Given the description of an element on the screen output the (x, y) to click on. 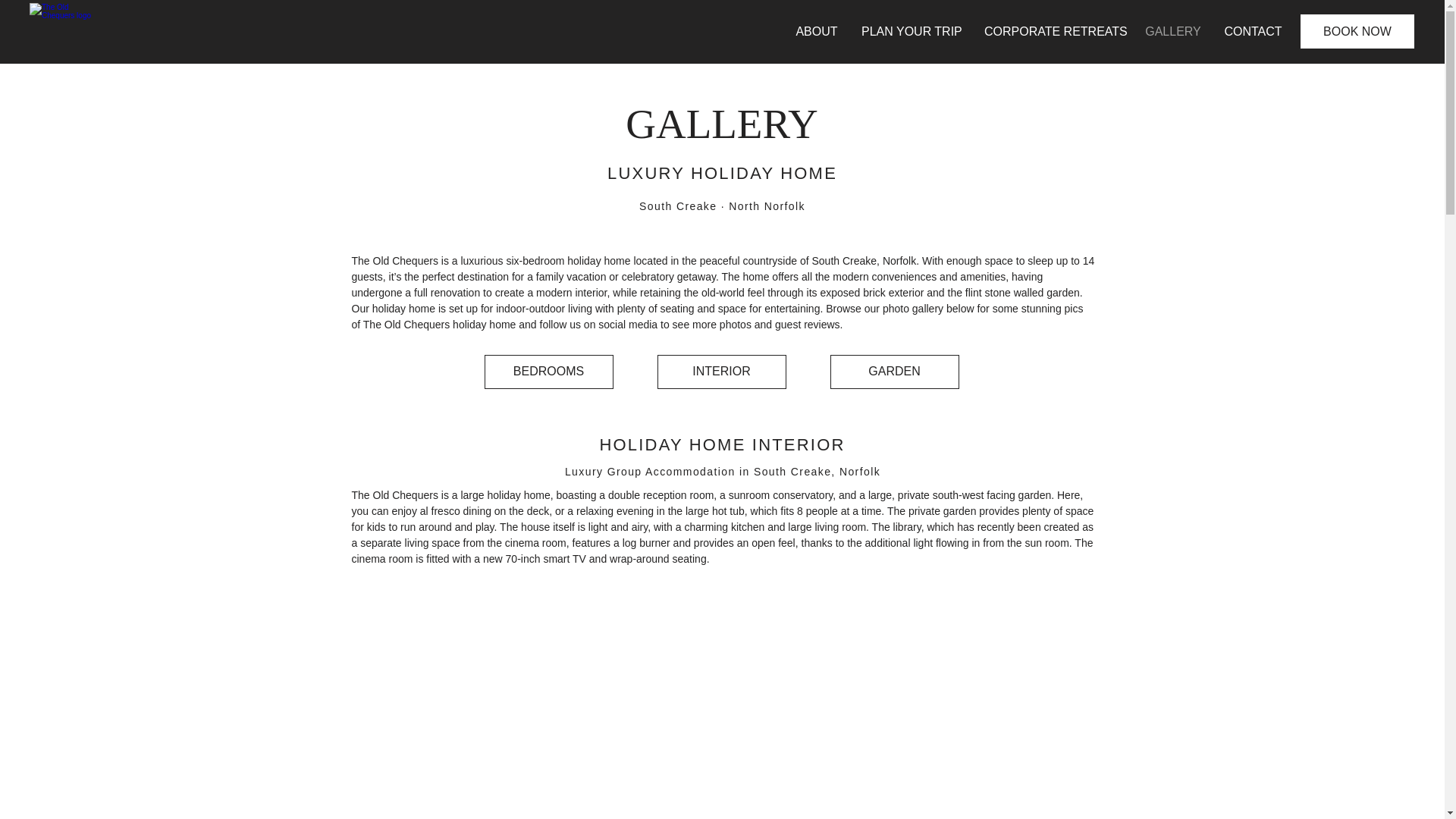
GALLERY (1173, 31)
ABOUT (816, 31)
BEDROOMS (547, 371)
INTERIOR (721, 371)
CORPORATE RETREATS (1053, 31)
BOOK NOW (1356, 31)
PLAN YOUR TRIP (911, 31)
CONTACT (1253, 31)
GARDEN (893, 371)
